Given the description of an element on the screen output the (x, y) to click on. 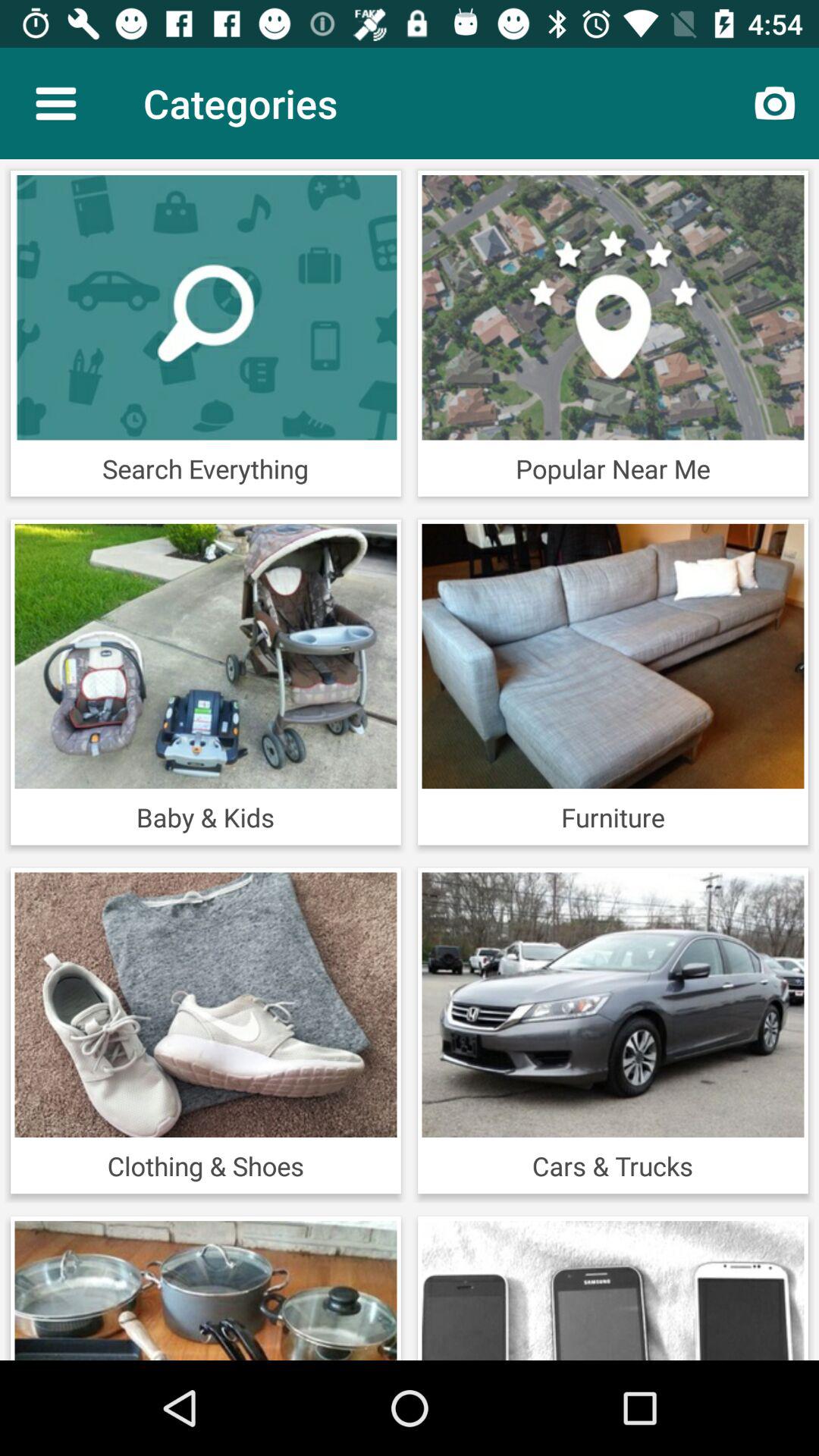
select the icon next to the categories (55, 103)
